Given the description of an element on the screen output the (x, y) to click on. 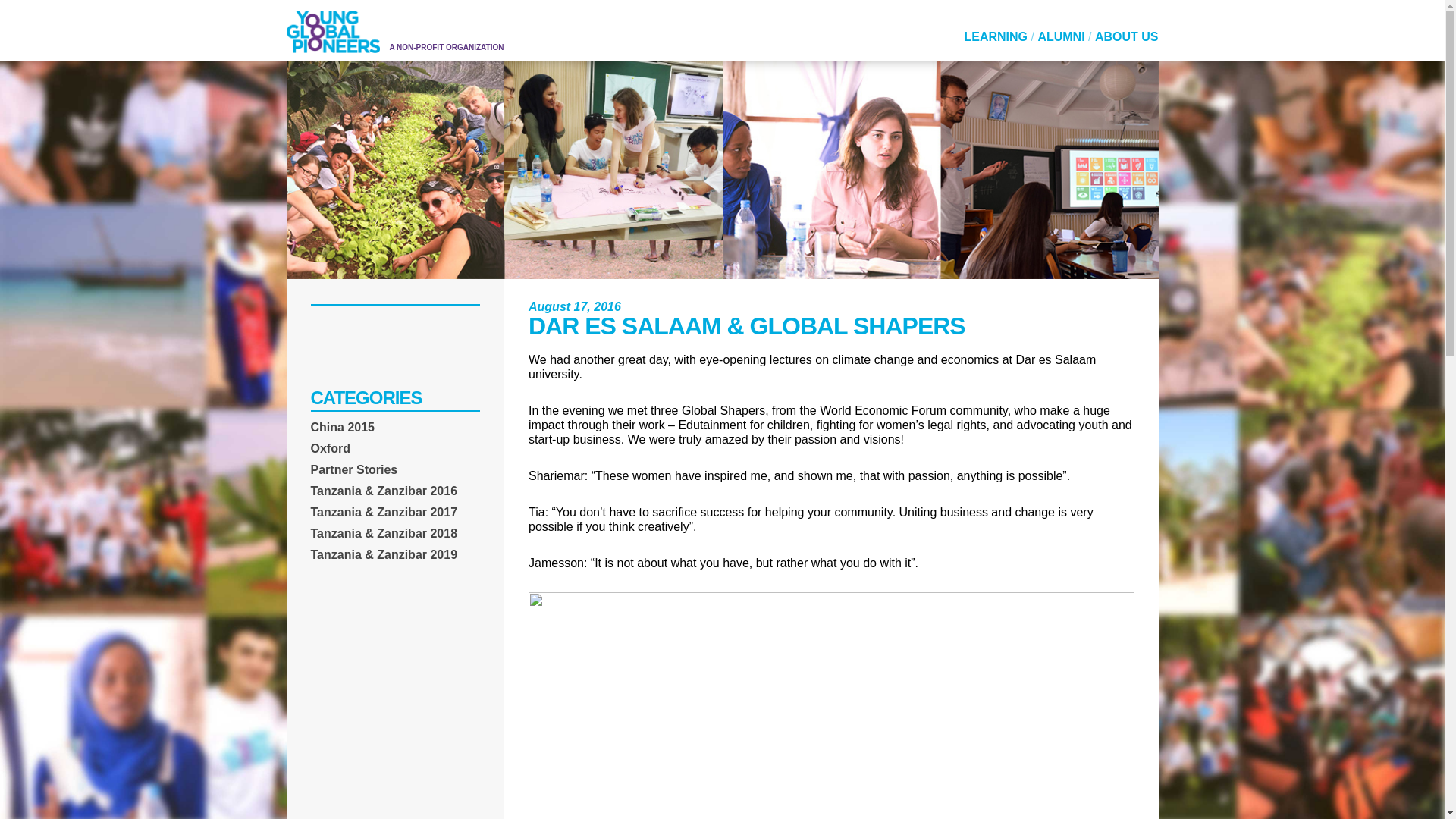
LEARNING (995, 36)
ABOUT US (1126, 36)
ALUMNI (1060, 36)
